Given the description of an element on the screen output the (x, y) to click on. 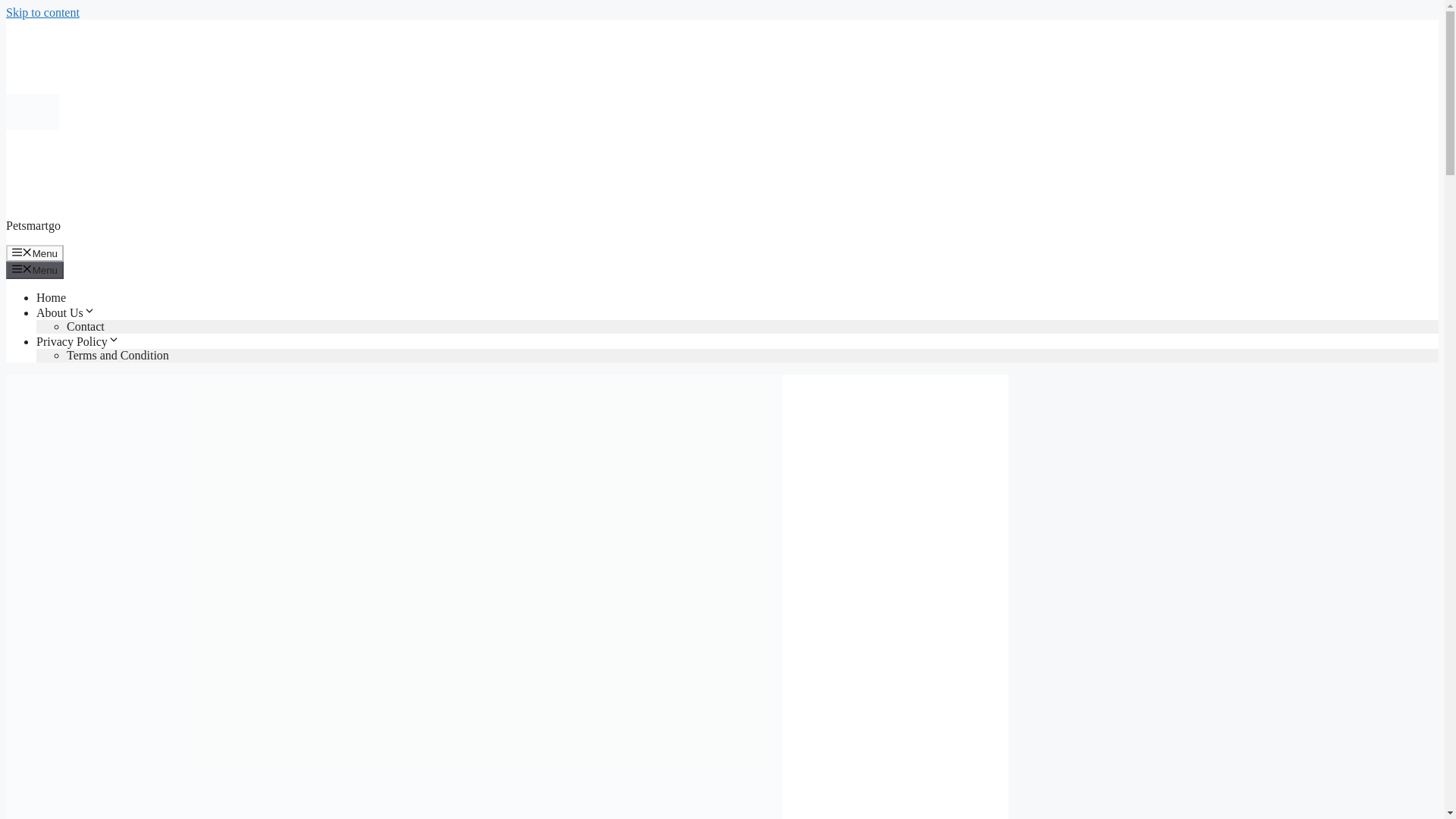
Menu (34, 252)
Contact (85, 326)
Petsmartgo (33, 225)
Menu (34, 269)
Skip to content (42, 11)
Terms and Condition (117, 354)
Skip to content (42, 11)
About Us (66, 312)
Privacy Policy (77, 341)
